Given the description of an element on the screen output the (x, y) to click on. 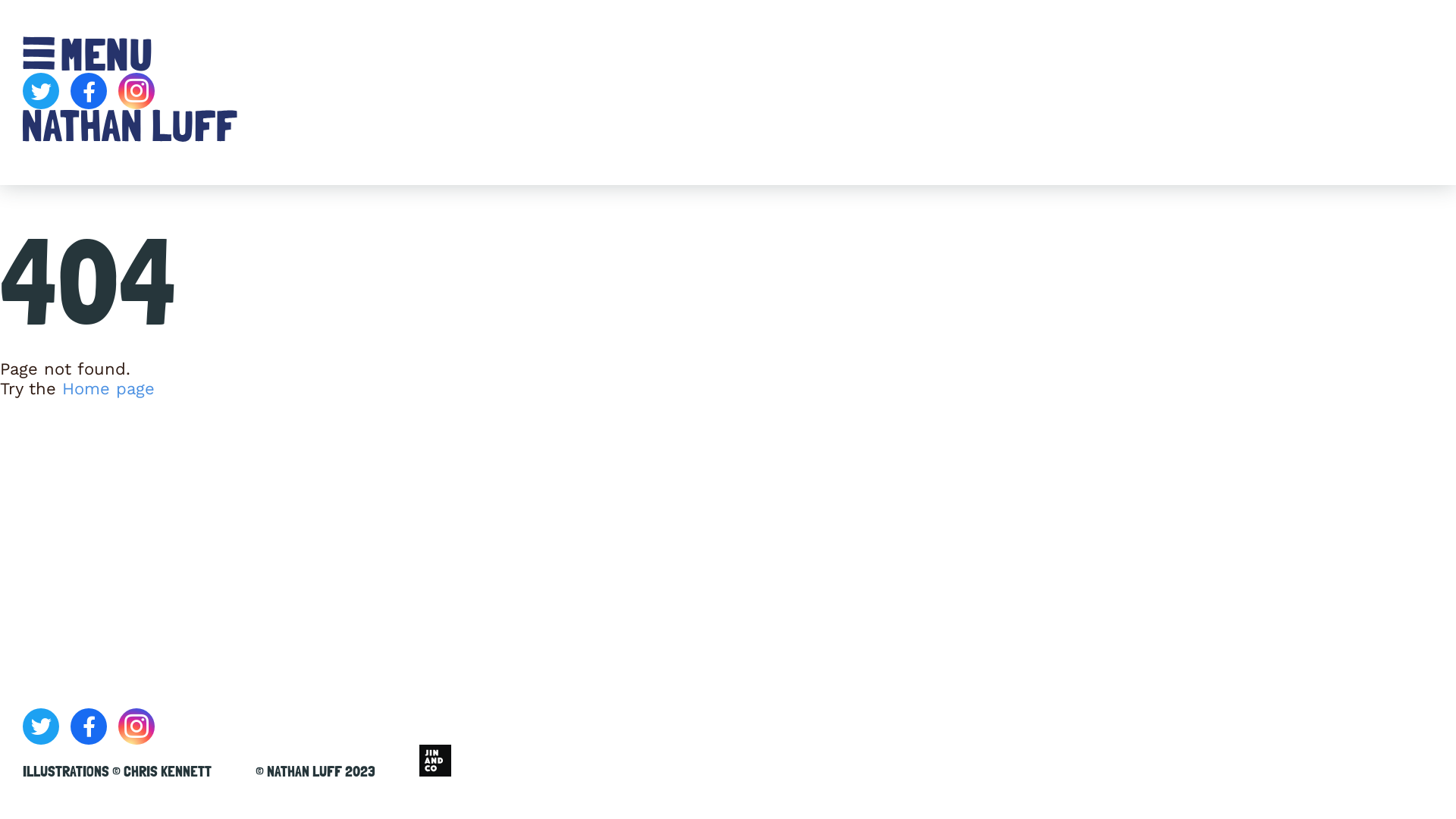
jinandco Element type: hover (435, 762)
NATHAN LUFF Element type: text (304, 771)
Facebook Element type: hover (88, 726)
Twitter Element type: hover (40, 90)
Nathan Luff Element type: hover (129, 135)
Facebook Element type: hover (88, 90)
Instagram Element type: hover (136, 90)
Instagram Element type: hover (136, 726)
Home page Element type: text (108, 388)
Twitter Element type: hover (40, 726)
